Given the description of an element on the screen output the (x, y) to click on. 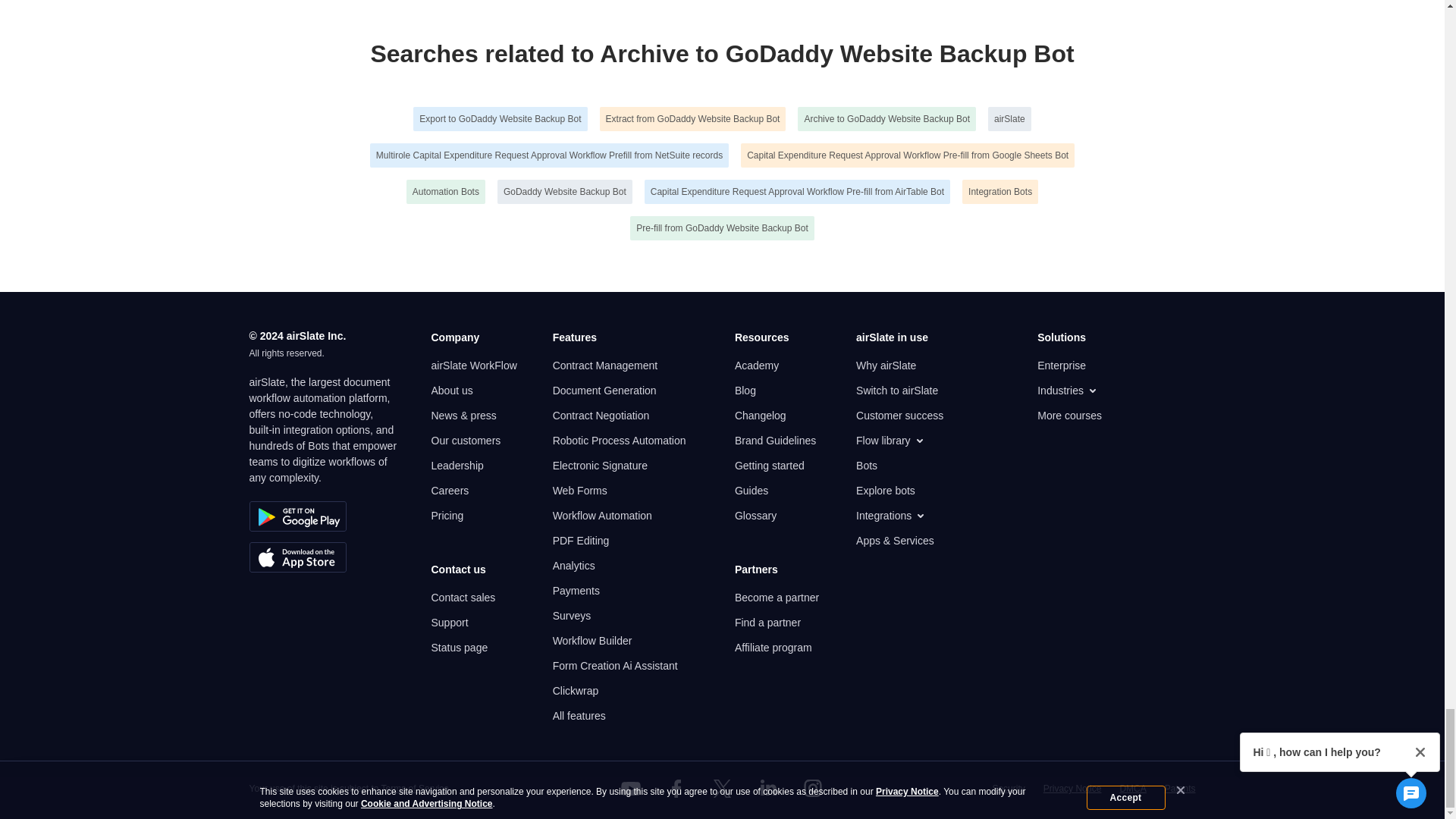
Facebook (676, 788)
LinkedIn (767, 788)
YouTube (630, 788)
Twitter (721, 788)
Instagram (812, 788)
